Given the description of an element on the screen output the (x, y) to click on. 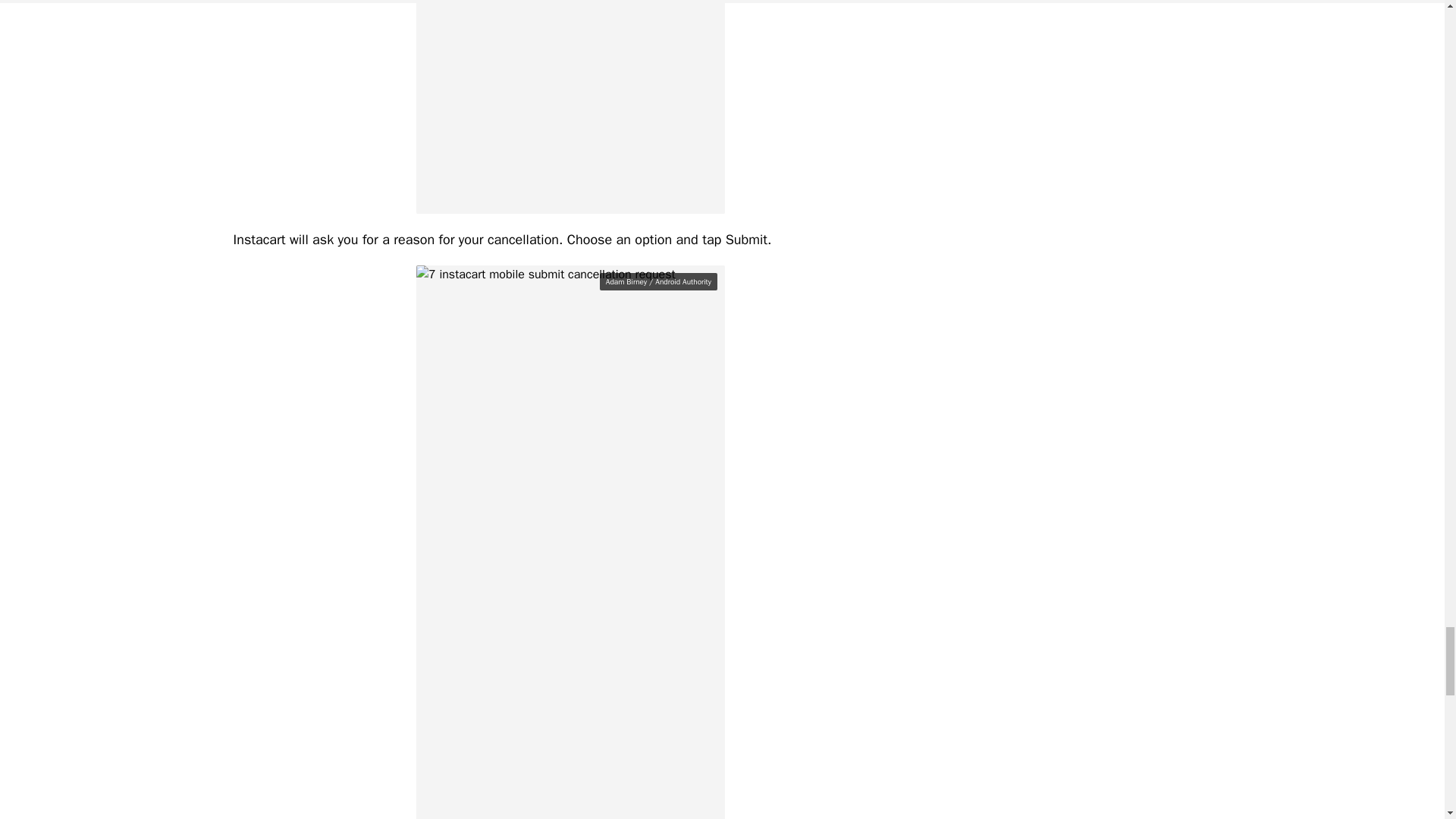
6 instacart mobile cancel order (570, 106)
